Given the description of an element on the screen output the (x, y) to click on. 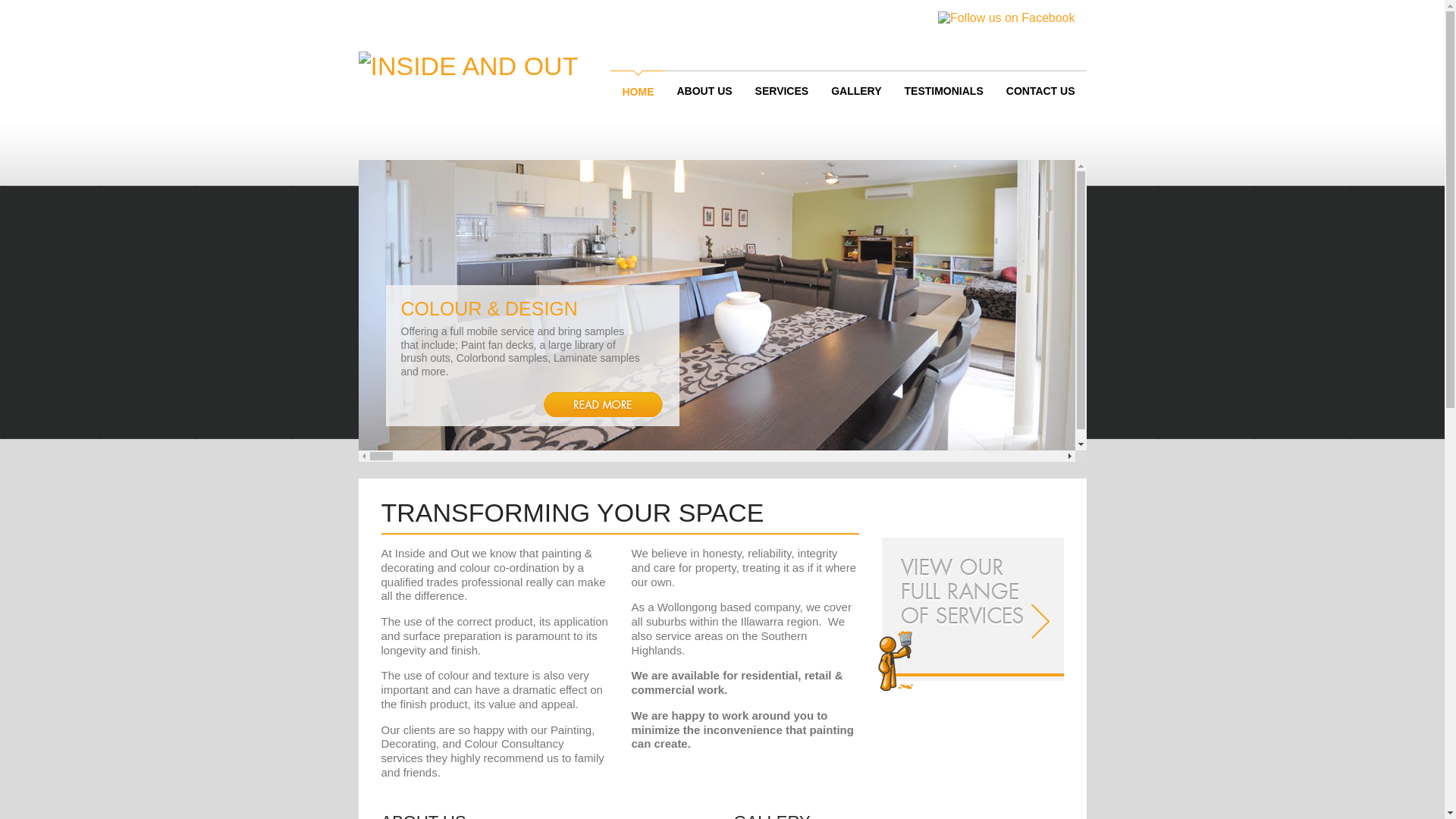
View our full range of services Element type: text (969, 615)
TESTIMONIALS Element type: text (943, 90)
SERVICES Element type: text (781, 90)
HOME Element type: text (637, 91)
Read more Element type: text (602, 404)
Home Element type: hover (467, 65)
Read more Element type: text (1330, 404)
GALLERY Element type: text (855, 90)
ABOUT US Element type: text (704, 90)
CONTACT US Element type: text (1040, 90)
